Given the description of an element on the screen output the (x, y) to click on. 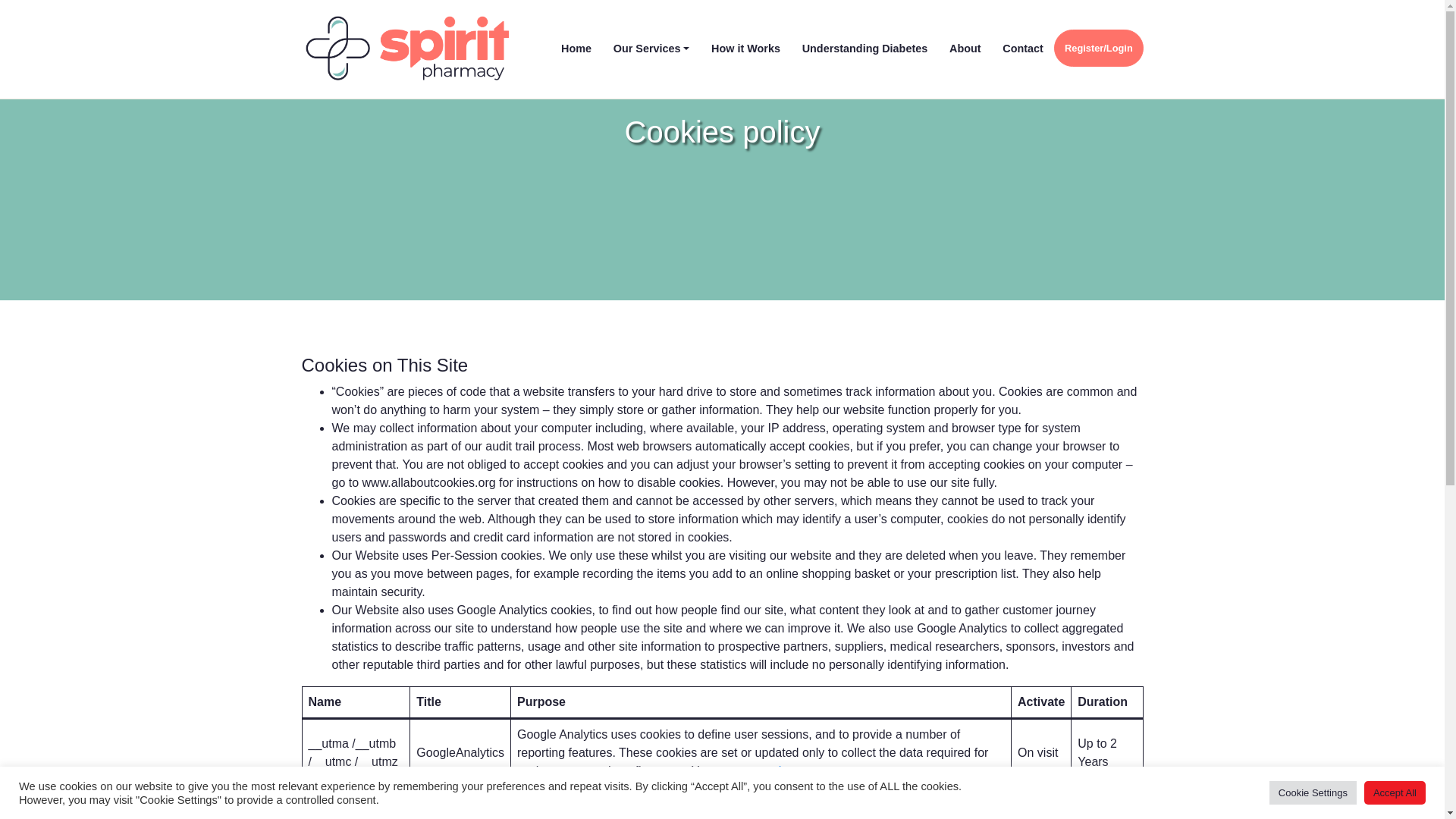
Home (576, 49)
How it Works (746, 49)
About (965, 49)
Our Services (651, 49)
Our Services (651, 49)
Contact (1022, 49)
here (790, 770)
Understanding Diabetes (863, 49)
Cookie Settings (1312, 792)
Contact (1022, 49)
